Given the description of an element on the screen output the (x, y) to click on. 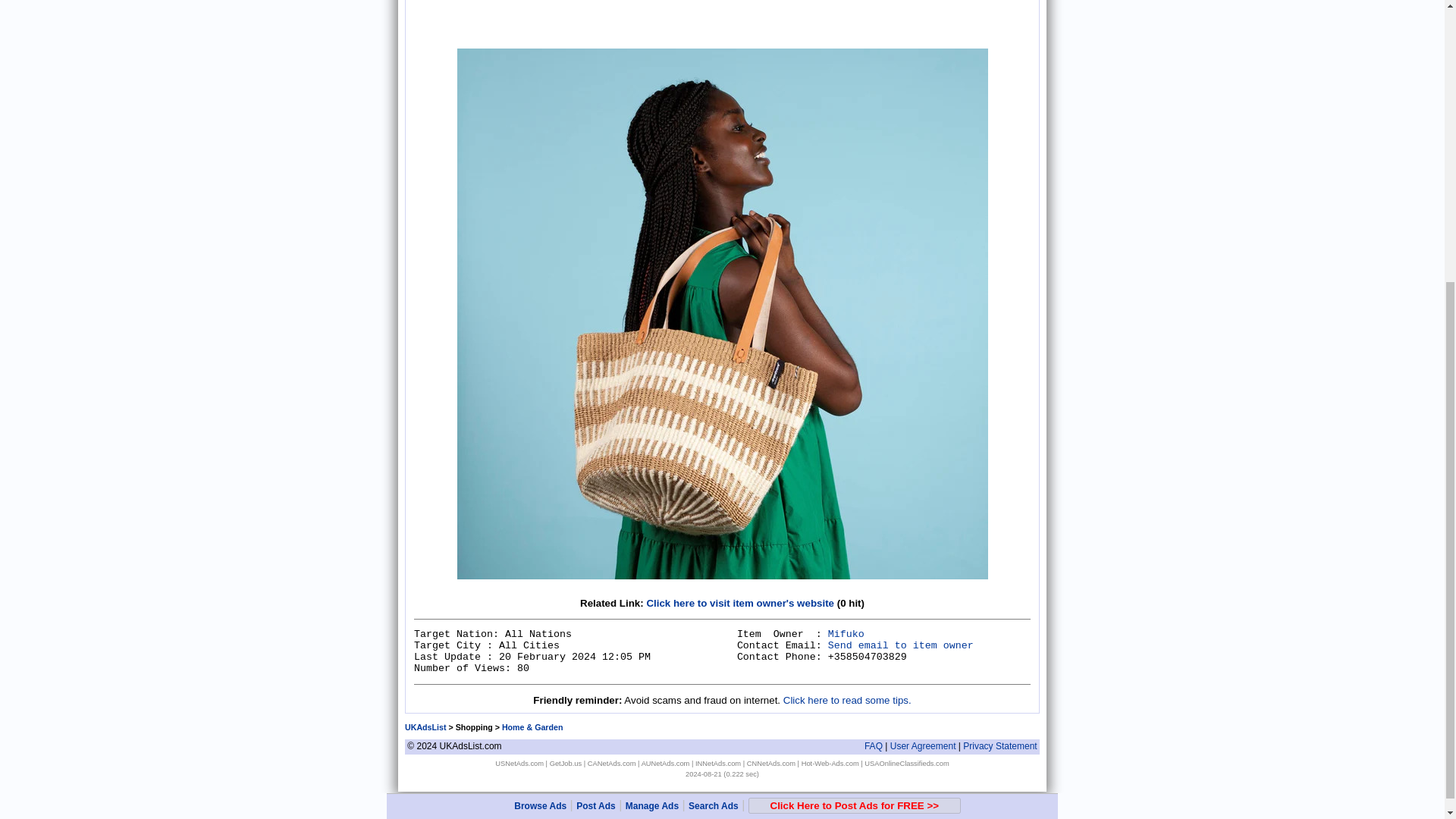
Click here to read some tips. (847, 699)
Send email to item owner (901, 645)
AUNetAds.com (666, 763)
Post Ads (595, 375)
CNNetAds.com (770, 763)
Privacy Statement (999, 746)
User Agreement (922, 746)
Manage Ads (652, 375)
Hot-Web-Ads.com (830, 763)
Advertisement (527, 21)
